Given the description of an element on the screen output the (x, y) to click on. 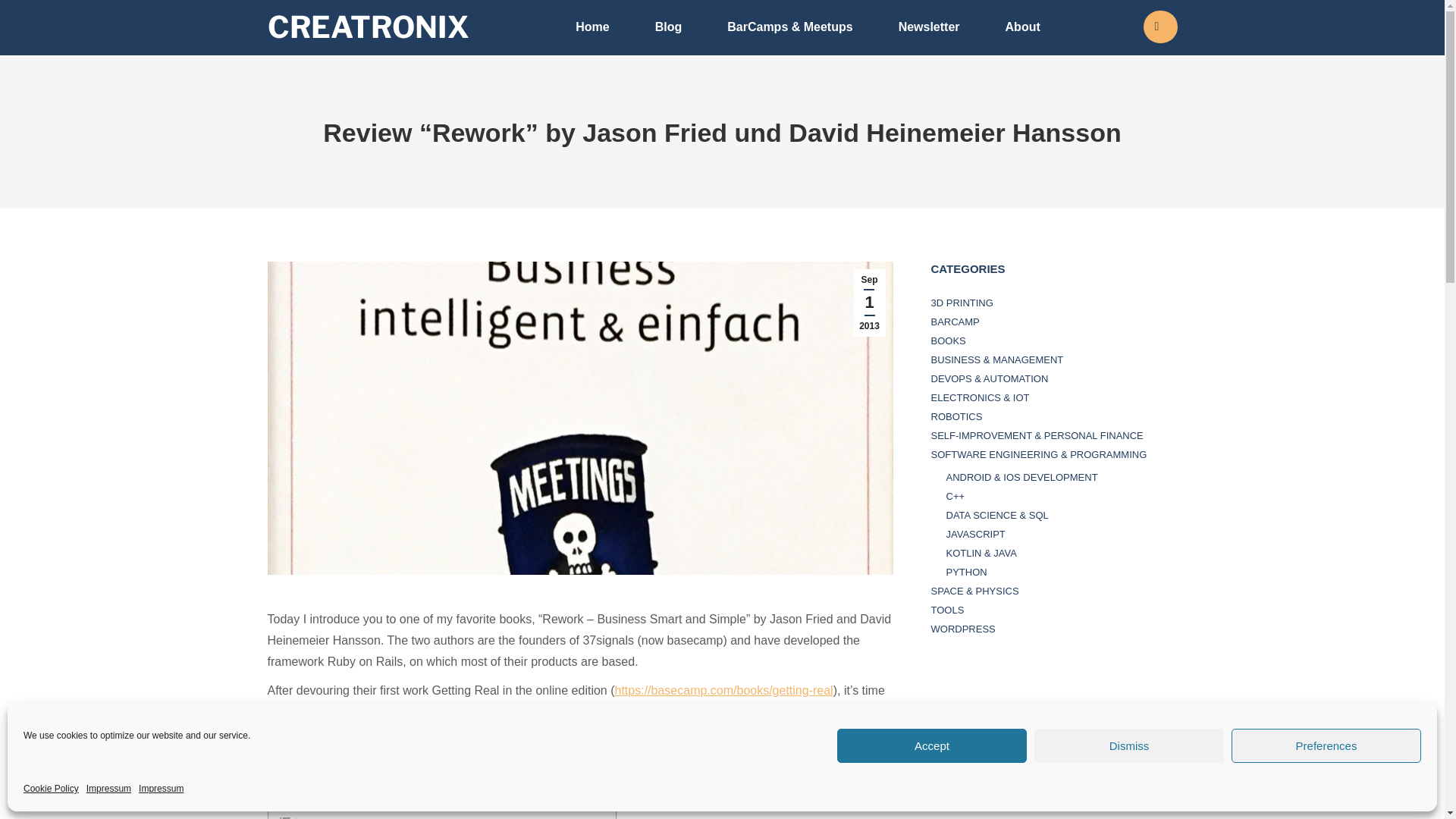
Preferences (1326, 745)
About (1022, 27)
Home (592, 27)
Impressum (160, 788)
Go! (24, 16)
Blog (667, 27)
Cookie Policy (50, 788)
Accept (931, 745)
Impressum (108, 788)
Dismiss (1128, 745)
